Given the description of an element on the screen output the (x, y) to click on. 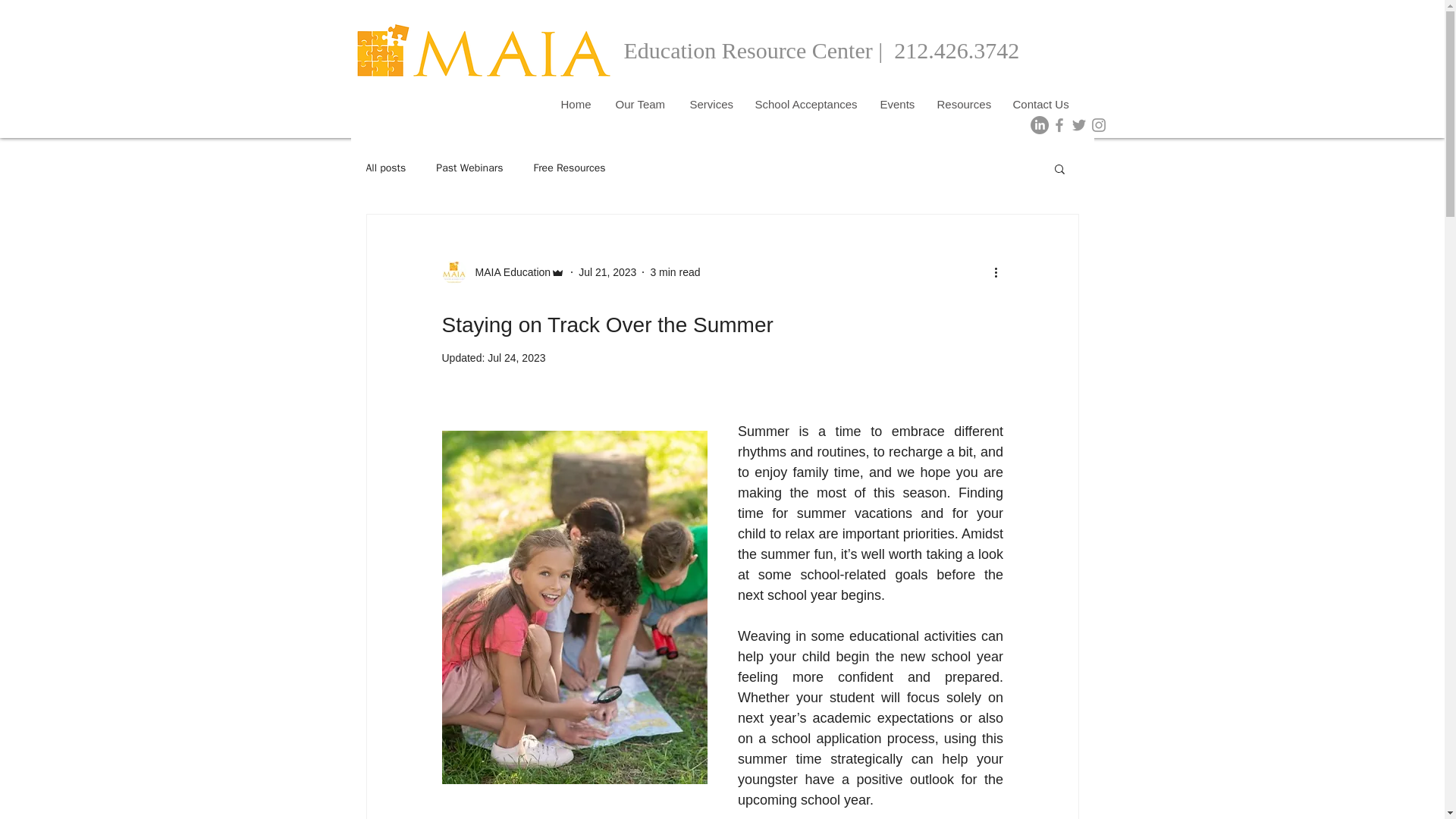
Home (576, 104)
Free Resources (568, 168)
MAIA Education (502, 272)
MAIA Education (507, 271)
Resources (962, 104)
Contact Us (1040, 104)
Jul 24, 2023 (515, 357)
3 min read (674, 271)
Past Webinars (468, 168)
All posts (385, 168)
Events (897, 104)
Services (710, 104)
Jul 21, 2023 (607, 271)
Our Team (641, 104)
School Acceptances (804, 104)
